Given the description of an element on the screen output the (x, y) to click on. 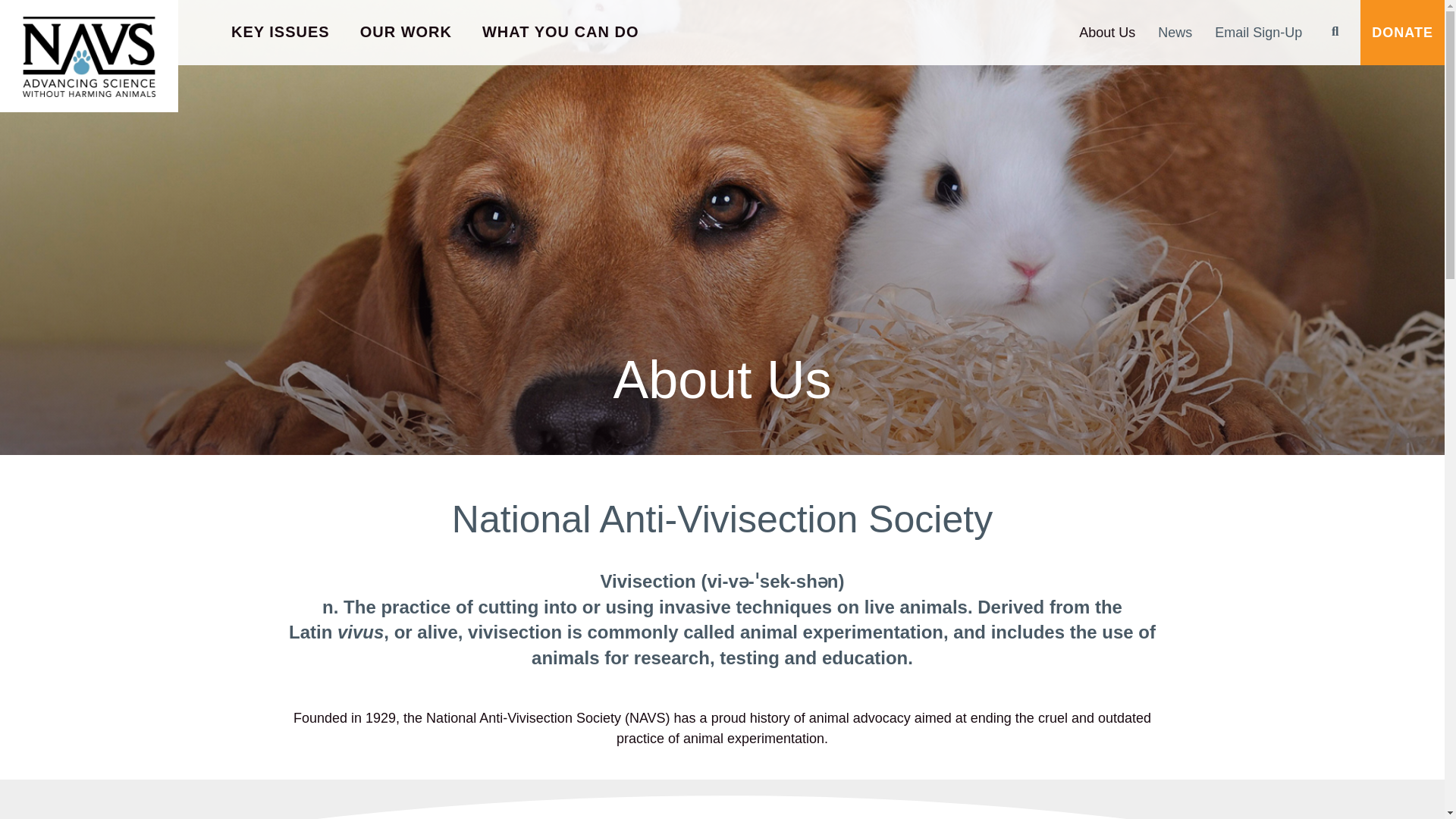
Logo (89, 56)
WHAT YOU CAN DO (560, 32)
OUR WORK (406, 32)
KEY ISSUES (280, 32)
